Given the description of an element on the screen output the (x, y) to click on. 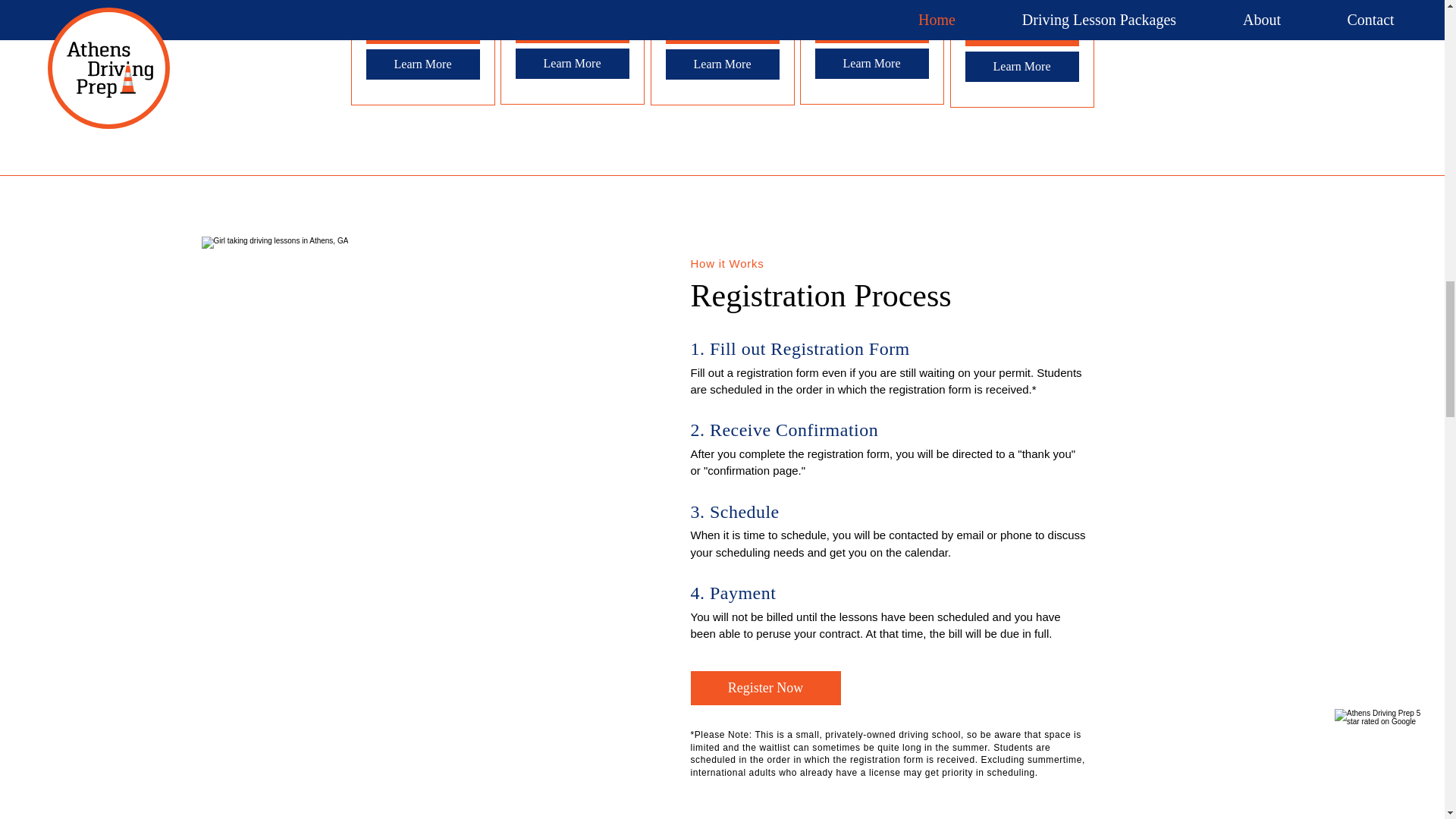
Learn More (870, 63)
Learn More (721, 64)
Register Now (765, 687)
Register (721, 28)
Register (870, 28)
Register (571, 28)
Learn More (422, 64)
Learn More (571, 63)
Register (422, 28)
Register (1020, 30)
